Given the description of an element on the screen output the (x, y) to click on. 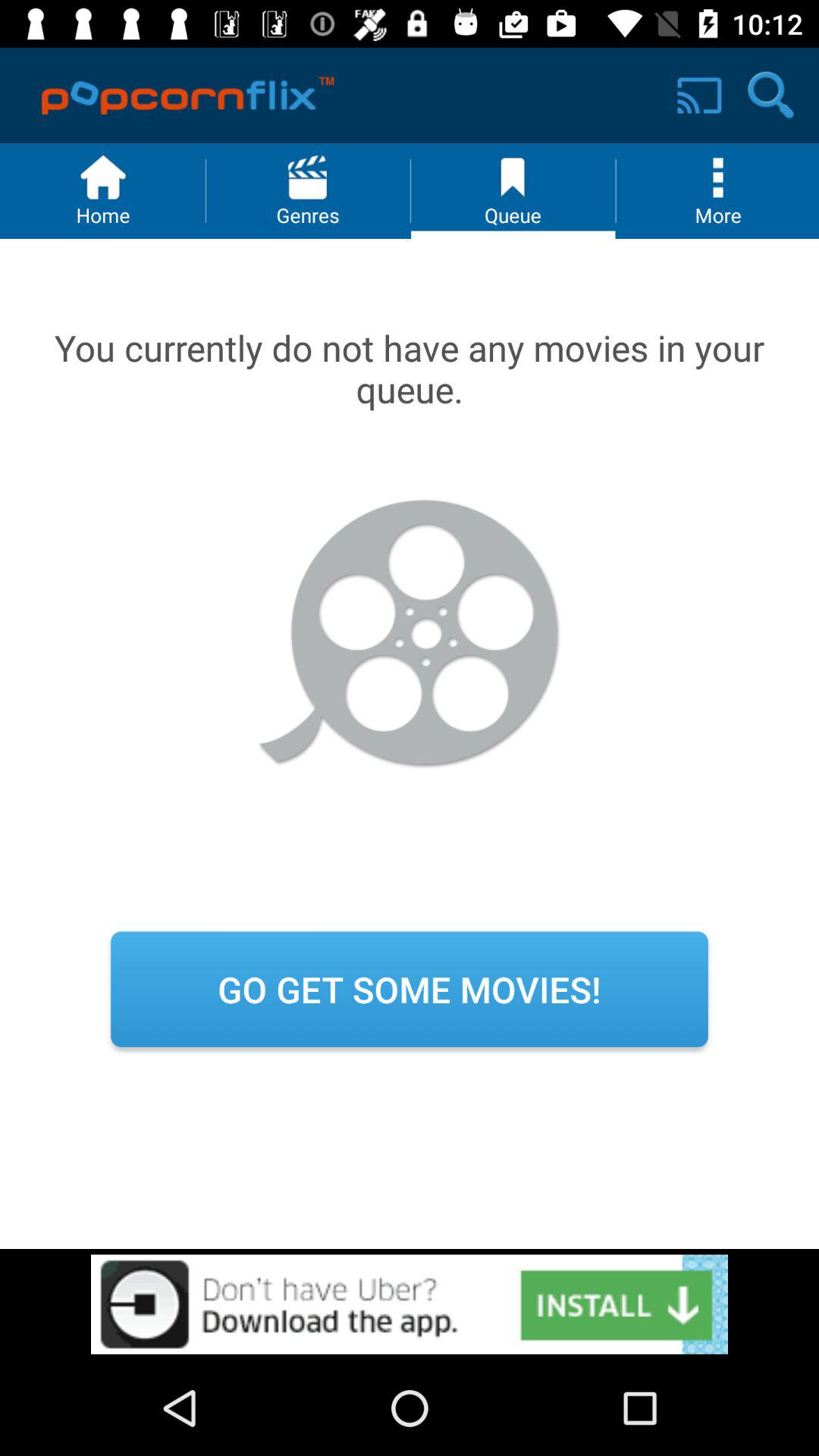
open advertisement (409, 1304)
